Given the description of an element on the screen output the (x, y) to click on. 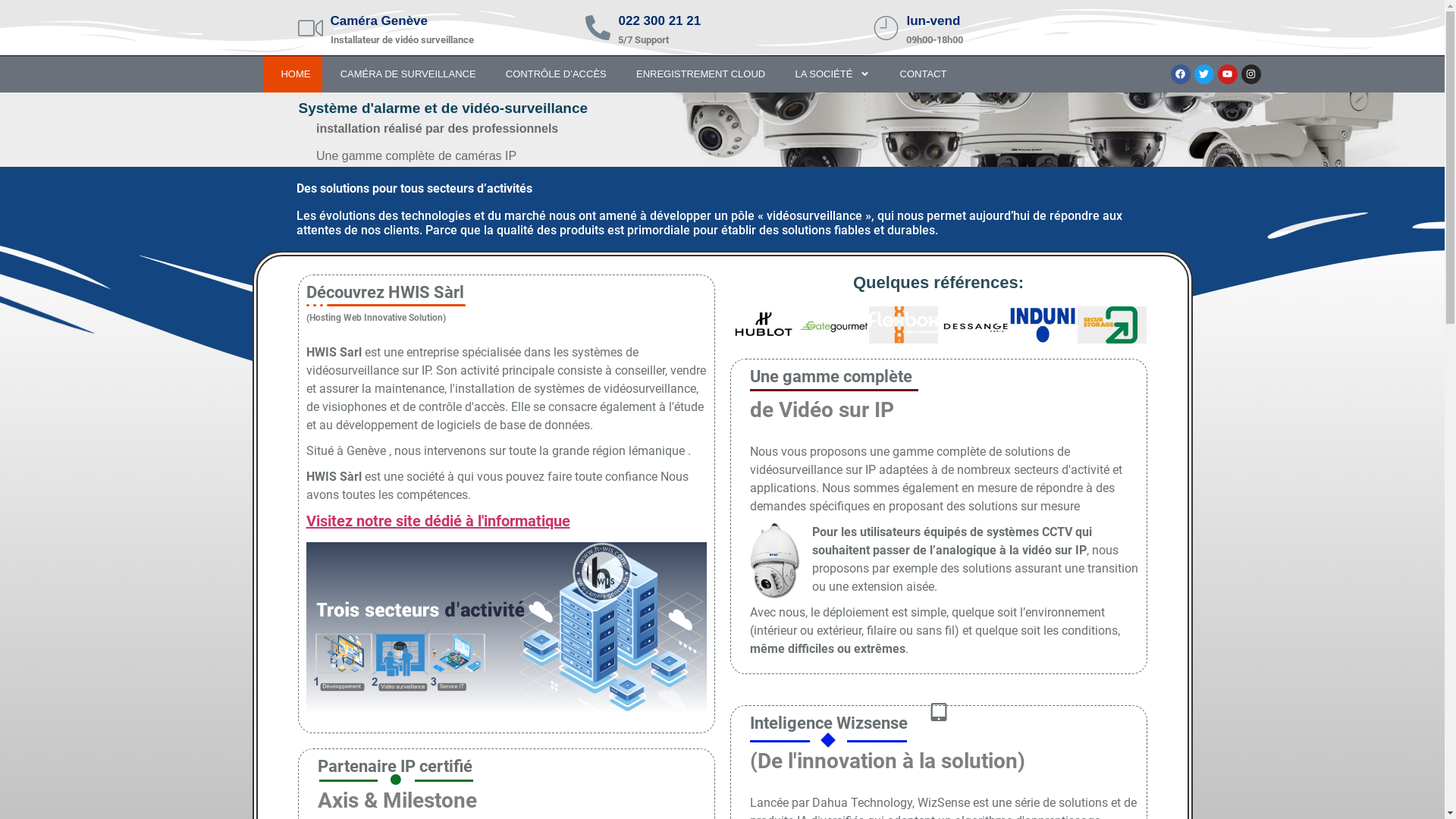
  HOME Element type: text (292, 74)
022 300 21 21 Element type: text (659, 20)
   ENREGISTREMENT CLOUD Element type: text (697, 74)
  CONTACT Element type: text (919, 74)
